Given the description of an element on the screen output the (x, y) to click on. 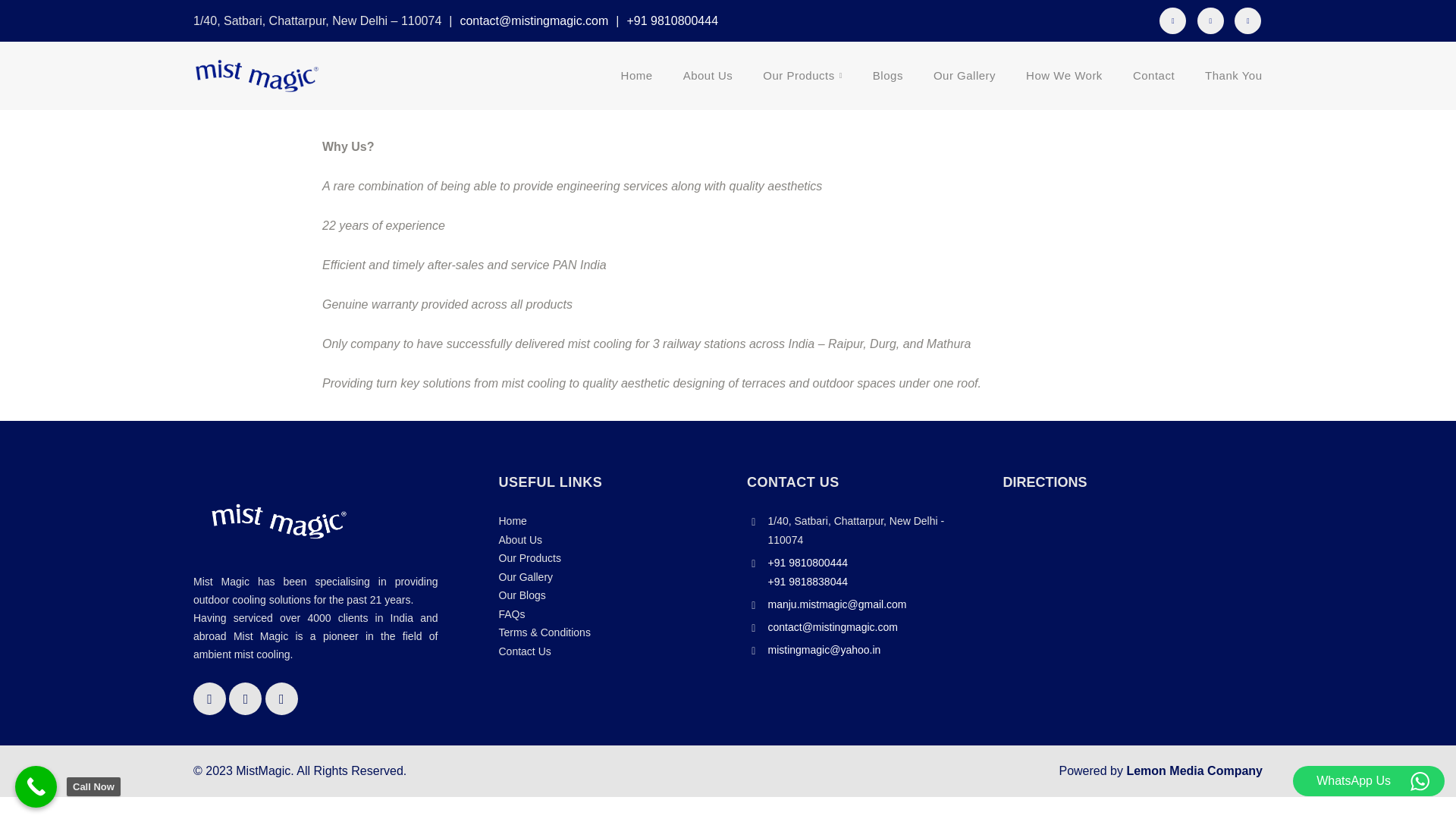
Blogs (887, 75)
Our Products (802, 75)
How We Work (1064, 75)
Contact (1153, 75)
Our Gallery (964, 75)
Home (636, 75)
About Us (707, 75)
